Given the description of an element on the screen output the (x, y) to click on. 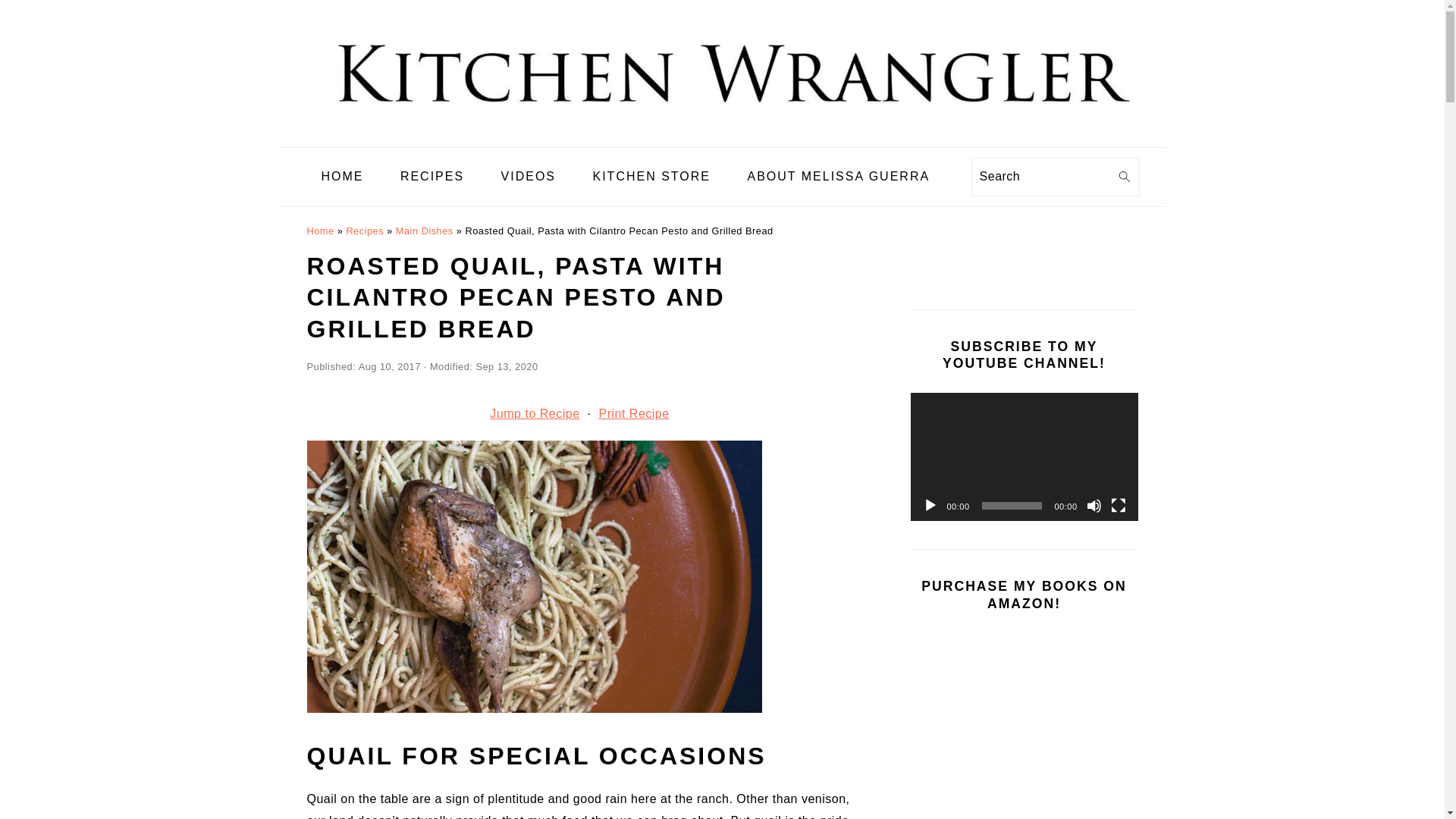
Jump to Recipe (534, 414)
Jump to Recipe (534, 414)
KITCHEN STORE (651, 176)
Print Recipe (633, 414)
VIDEOS (528, 176)
ABOUT MELISSA GUERRA (837, 176)
Home (319, 229)
RECIPES (432, 176)
Play (929, 505)
Recipes (365, 229)
Main Dishes (424, 229)
HOME (341, 176)
